Given the description of an element on the screen output the (x, y) to click on. 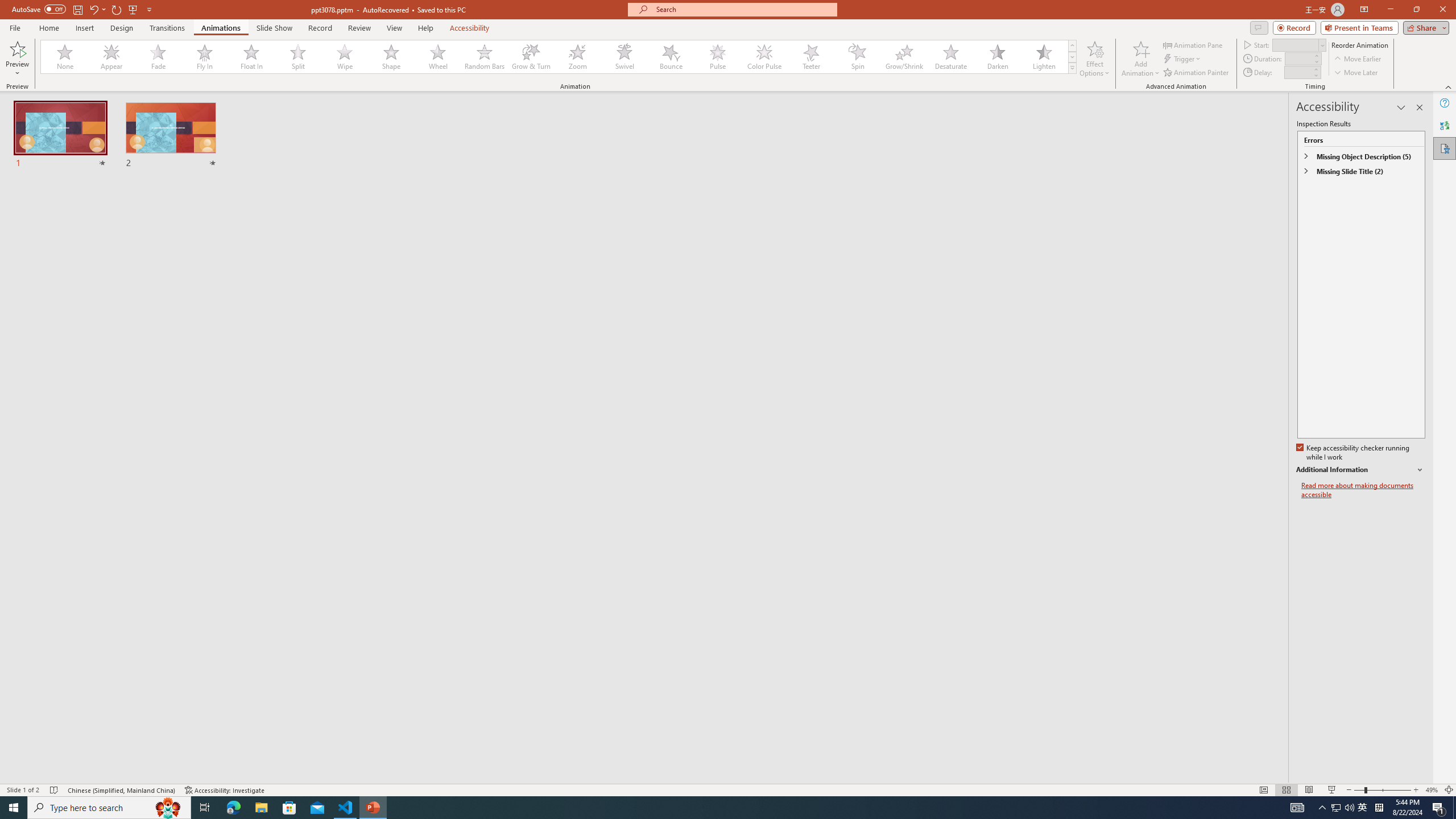
More (1315, 69)
Grow & Turn (531, 56)
Effect Options (1094, 58)
Desaturate (950, 56)
Spin (857, 56)
Float In (251, 56)
None (65, 56)
AutomationID: AnimationGallery (558, 56)
